Given the description of an element on the screen output the (x, y) to click on. 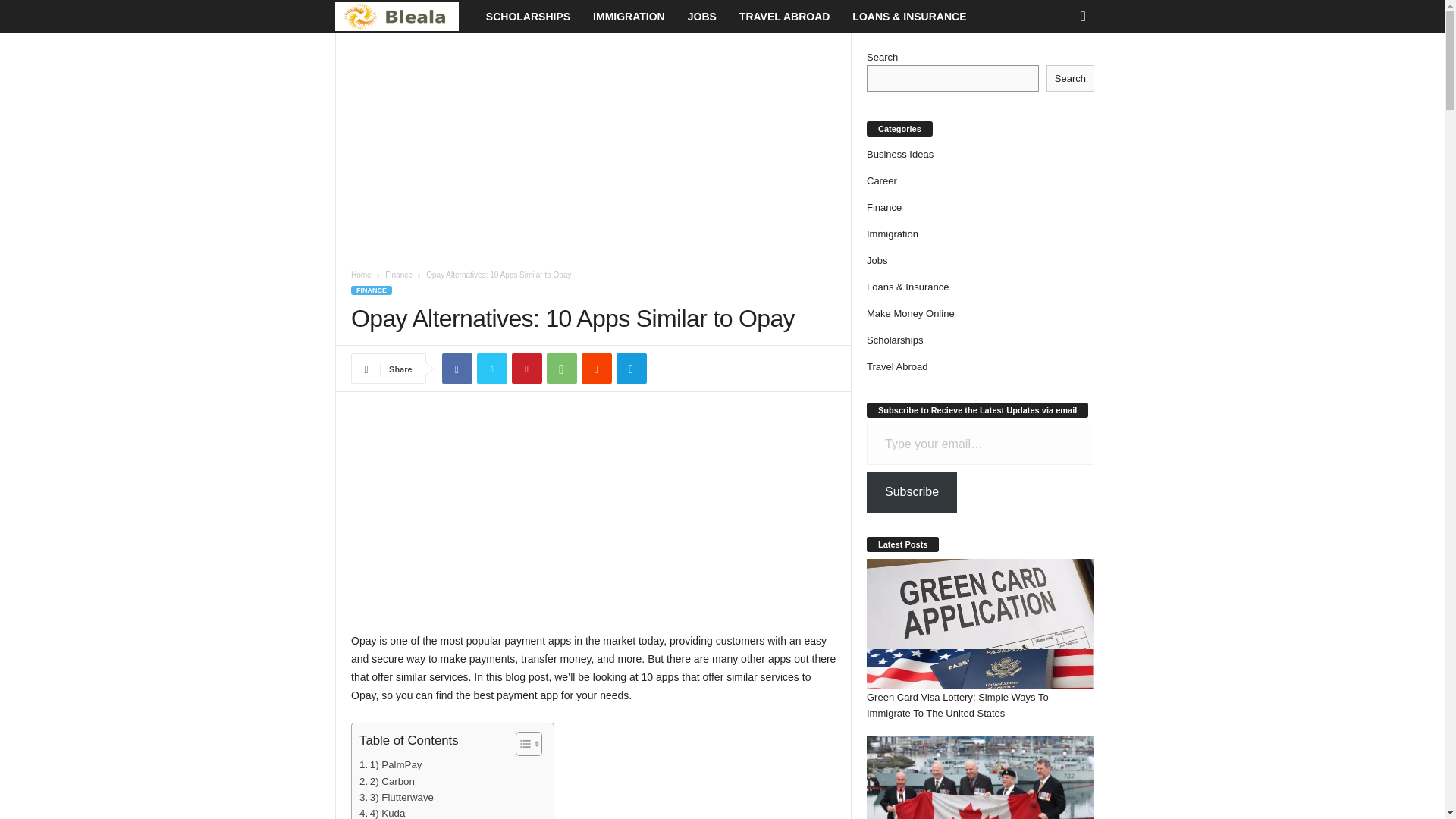
Bleala (404, 16)
Telegram (630, 368)
Finance (398, 275)
WhatsApp (561, 368)
Advertisement (592, 519)
View all posts in Finance (398, 275)
SCHOLARSHIPS (527, 16)
Facebook (456, 368)
Pinterest (526, 368)
IMMIGRATION (628, 16)
Advertisement (593, 145)
Twitter (491, 368)
TRAVEL ABROAD (784, 16)
JOBS (702, 16)
FINANCE (370, 289)
